Given the description of an element on the screen output the (x, y) to click on. 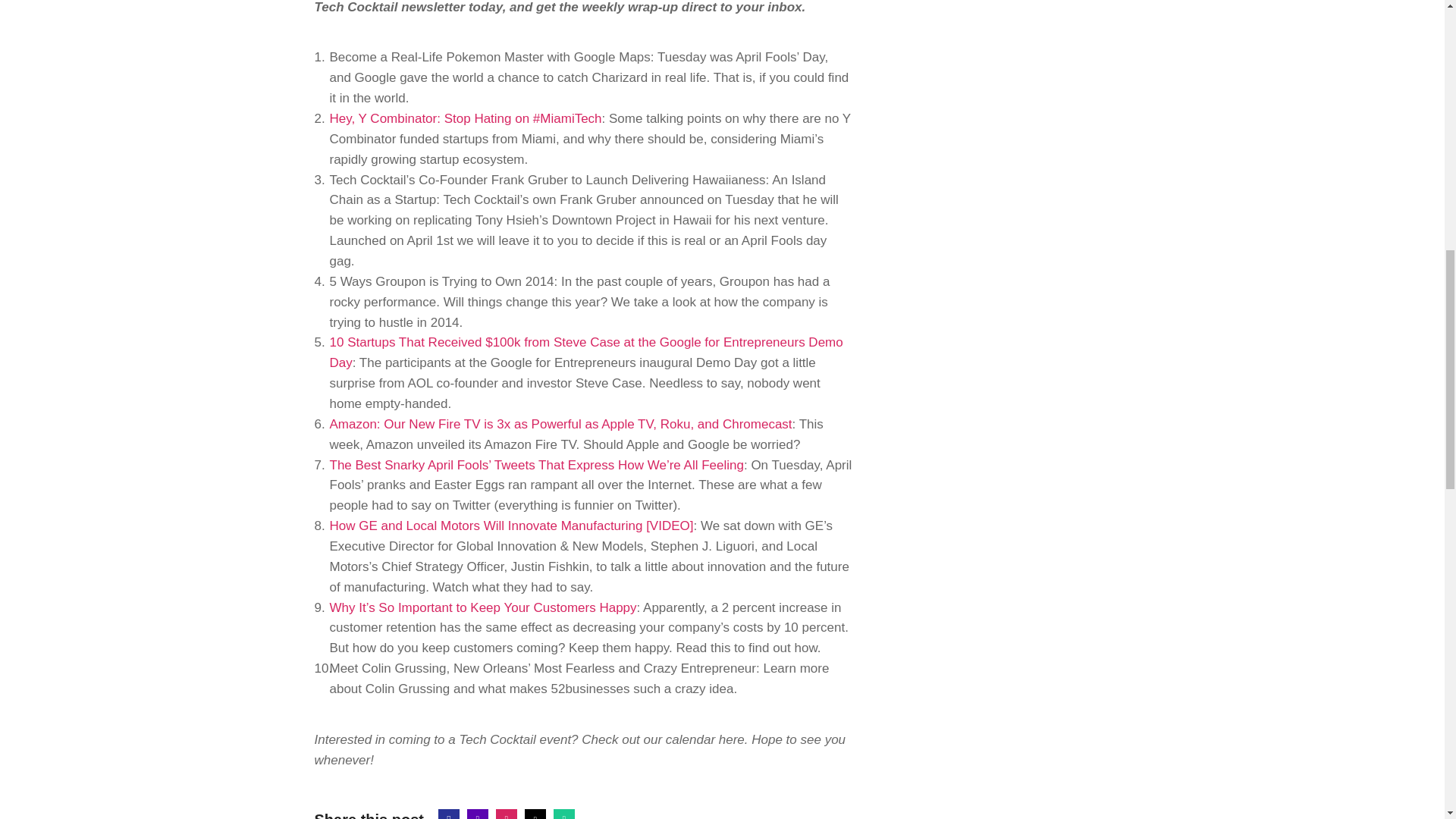
Whatsapp (564, 814)
Flipboard (506, 814)
Twitter-x (535, 814)
Facebook (449, 814)
Linkedin (477, 814)
